Given the description of an element on the screen output the (x, y) to click on. 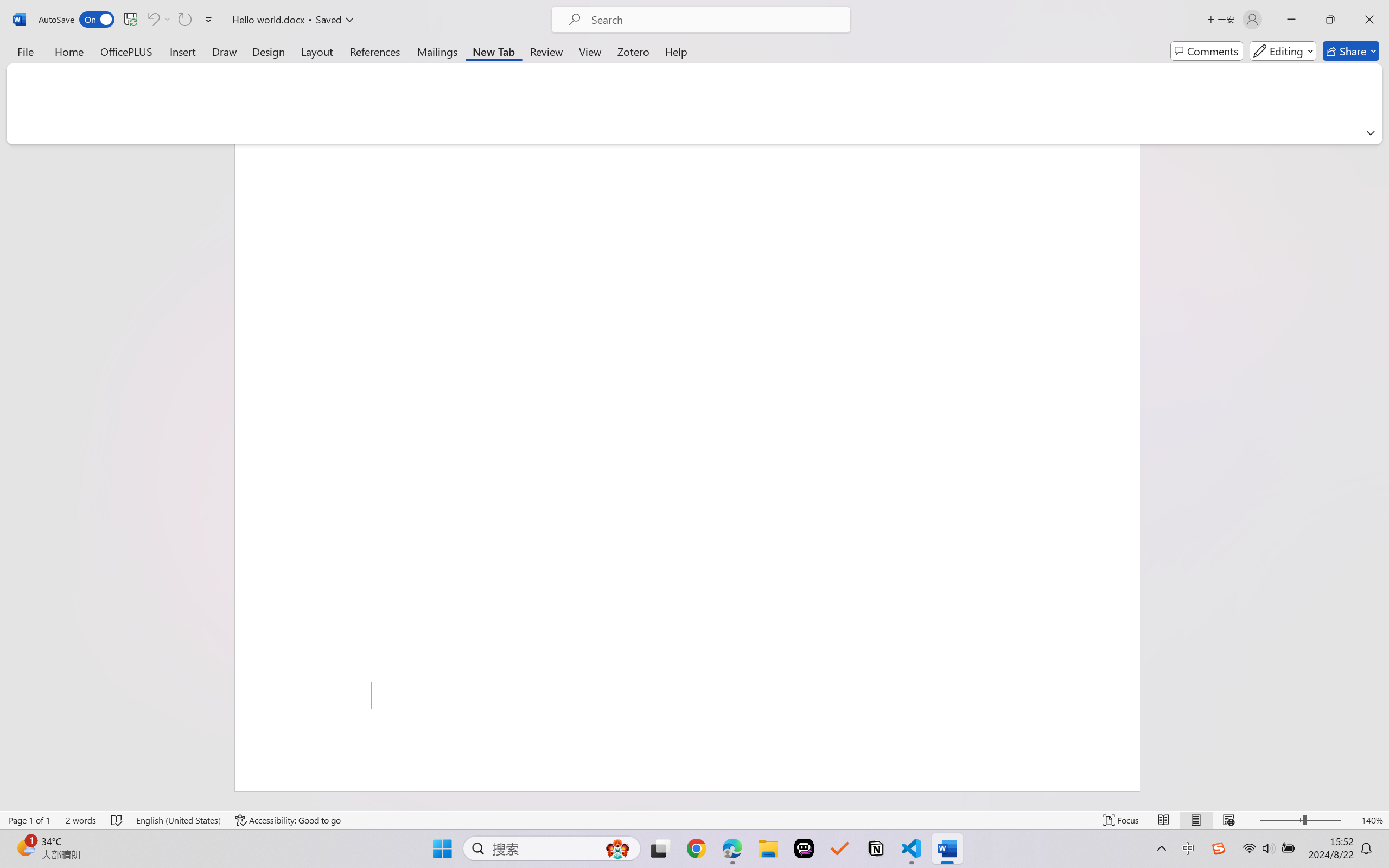
Print Layout (1196, 819)
Class: NetUIScrollBar (1382, 477)
Web Layout (1228, 819)
Language English (United States) (178, 819)
AutomationID: BadgeAnchorLargeTicker (24, 847)
Review (546, 51)
OfficePLUS (126, 51)
Class: Image (1218, 847)
Insert (182, 51)
Zoom In (1348, 819)
